Given the description of an element on the screen output the (x, y) to click on. 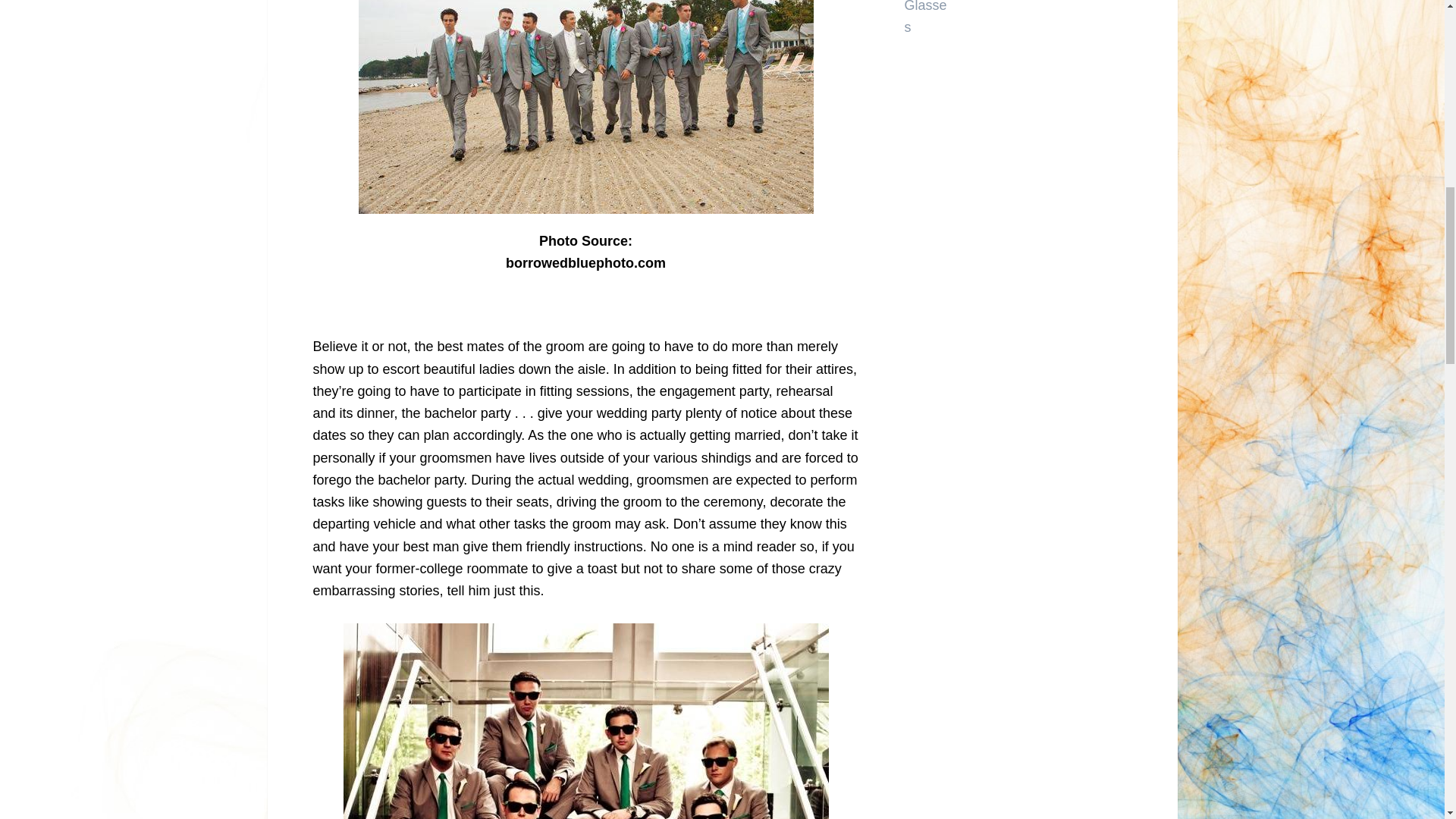
Preparing Your Groomsmen Photo (585, 106)
Preparing Your Groomsmen Photo (585, 721)
